Given the description of an element on the screen output the (x, y) to click on. 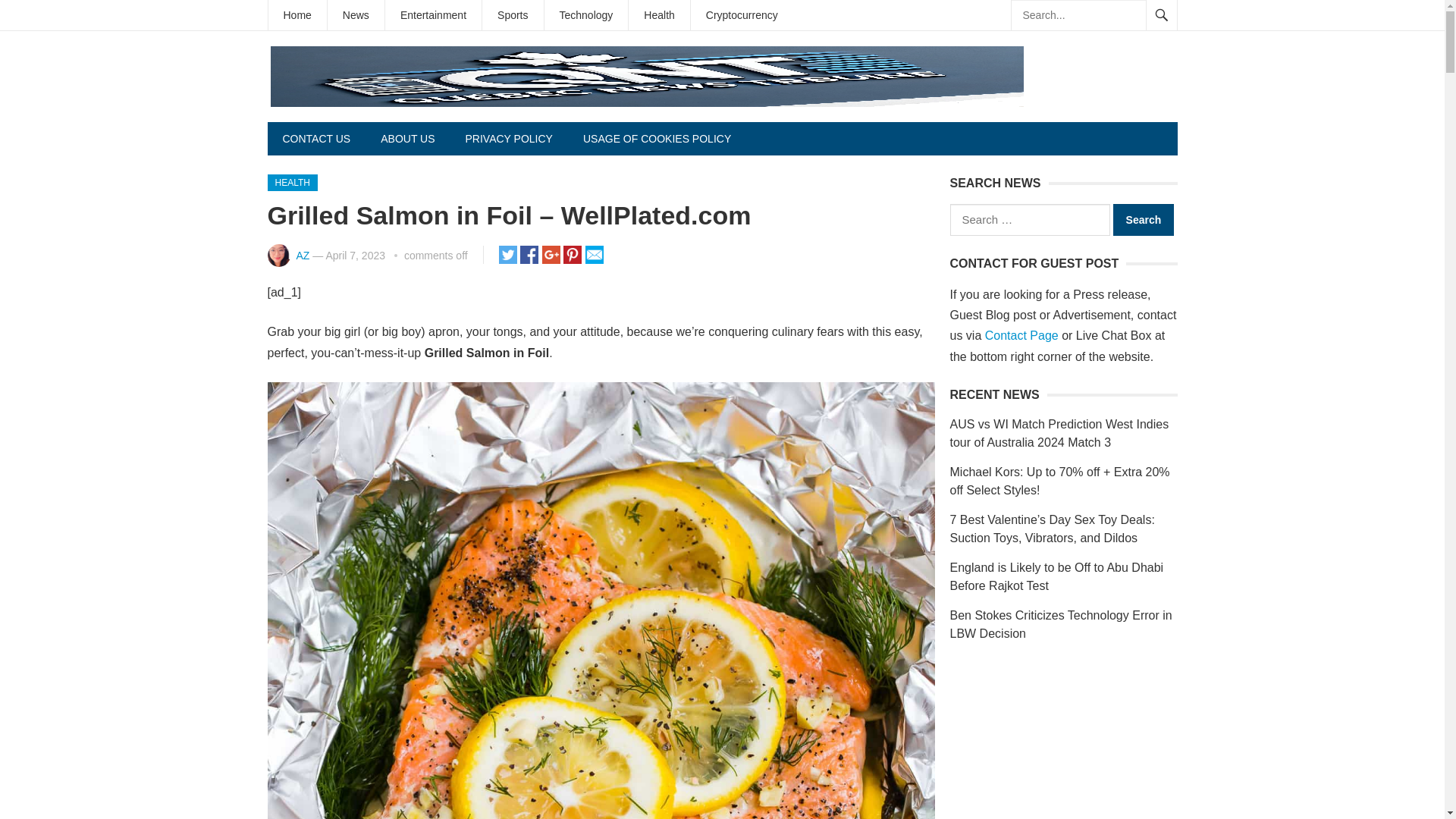
PRIVACY POLICY (508, 138)
USAGE OF COOKIES POLICY (656, 138)
Health (658, 15)
Home (296, 15)
ABOUT US (407, 138)
Technology (586, 15)
CONTACT US (315, 138)
Search (1143, 219)
Cryptocurrency (741, 15)
